Given the description of an element on the screen output the (x, y) to click on. 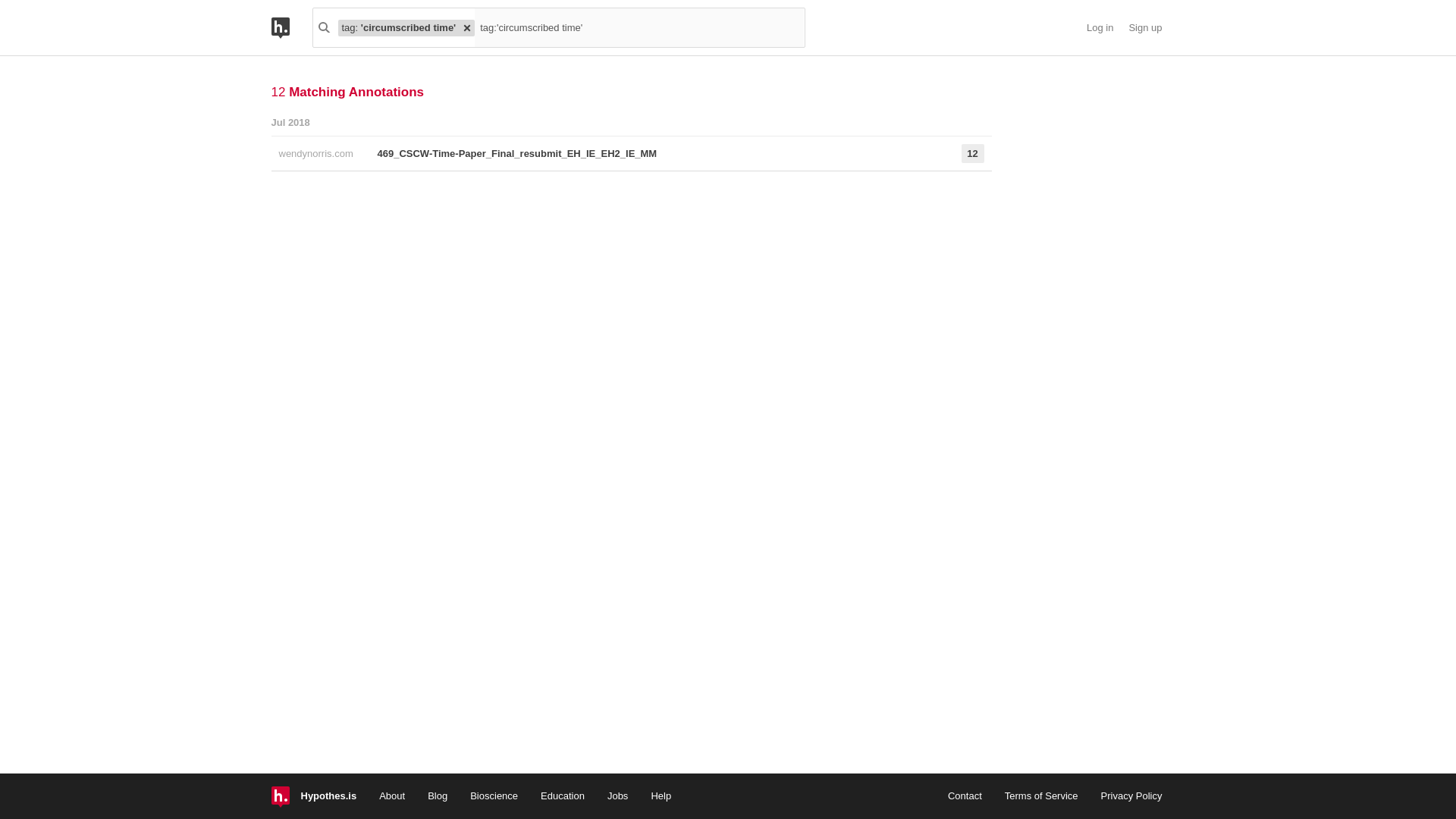
Sign up (1144, 28)
Visit annotations in context (320, 153)
Hypothesis homepage (291, 27)
12 annotations added (955, 153)
tag:'circumscribed time' (638, 27)
expand annotations for this url (650, 153)
Log in (1099, 28)
wendynorris.com (320, 153)
Remove search term (467, 27)
tag:'circumscribed time' (638, 27)
